Given the description of an element on the screen output the (x, y) to click on. 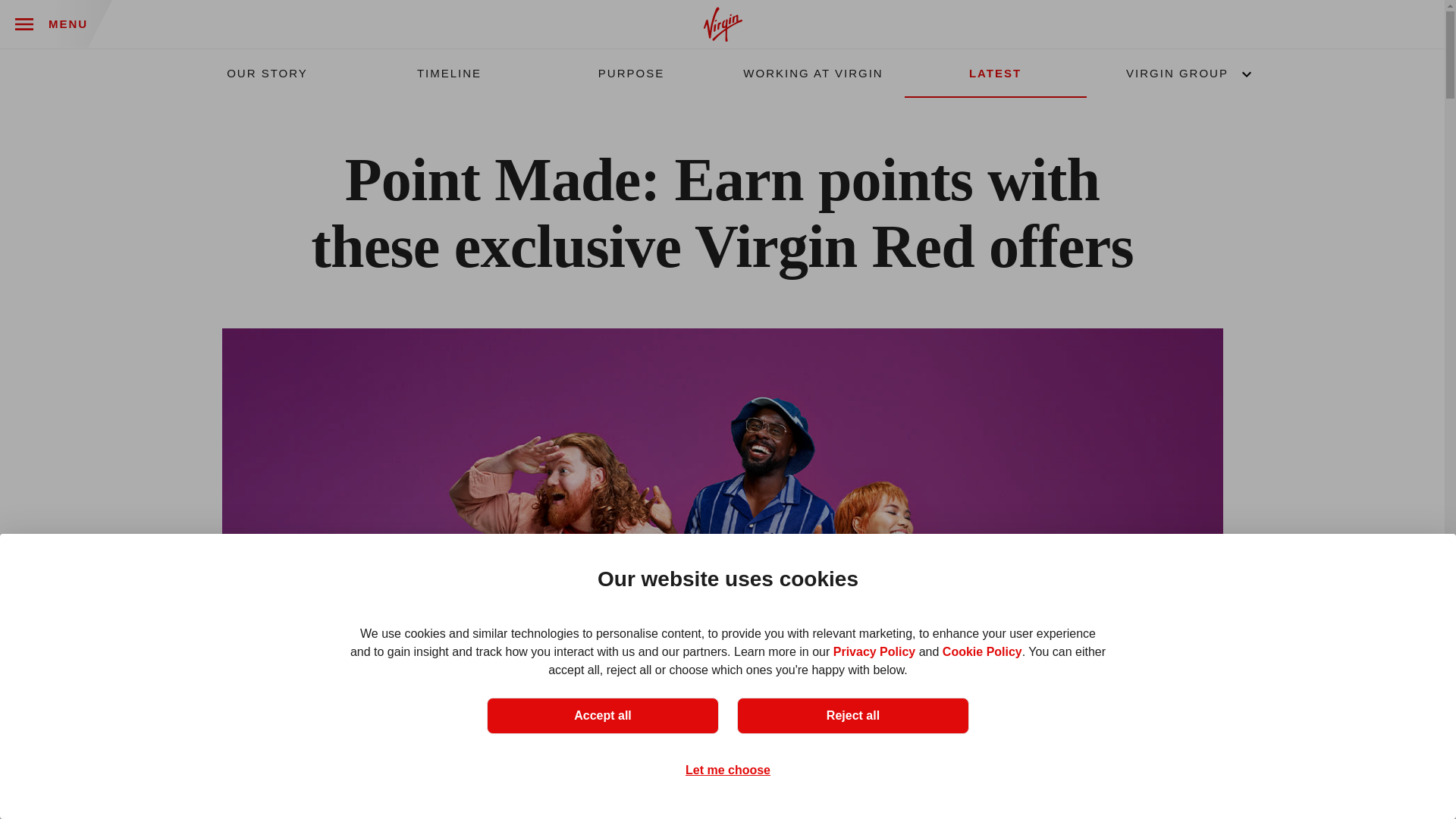
LATEST (995, 73)
TIMELINE (449, 73)
VIRGIN GROUP (1177, 73)
WORKING AT VIRGIN (813, 73)
OUR STORY (267, 73)
PURPOSE (631, 73)
